Given the description of an element on the screen output the (x, y) to click on. 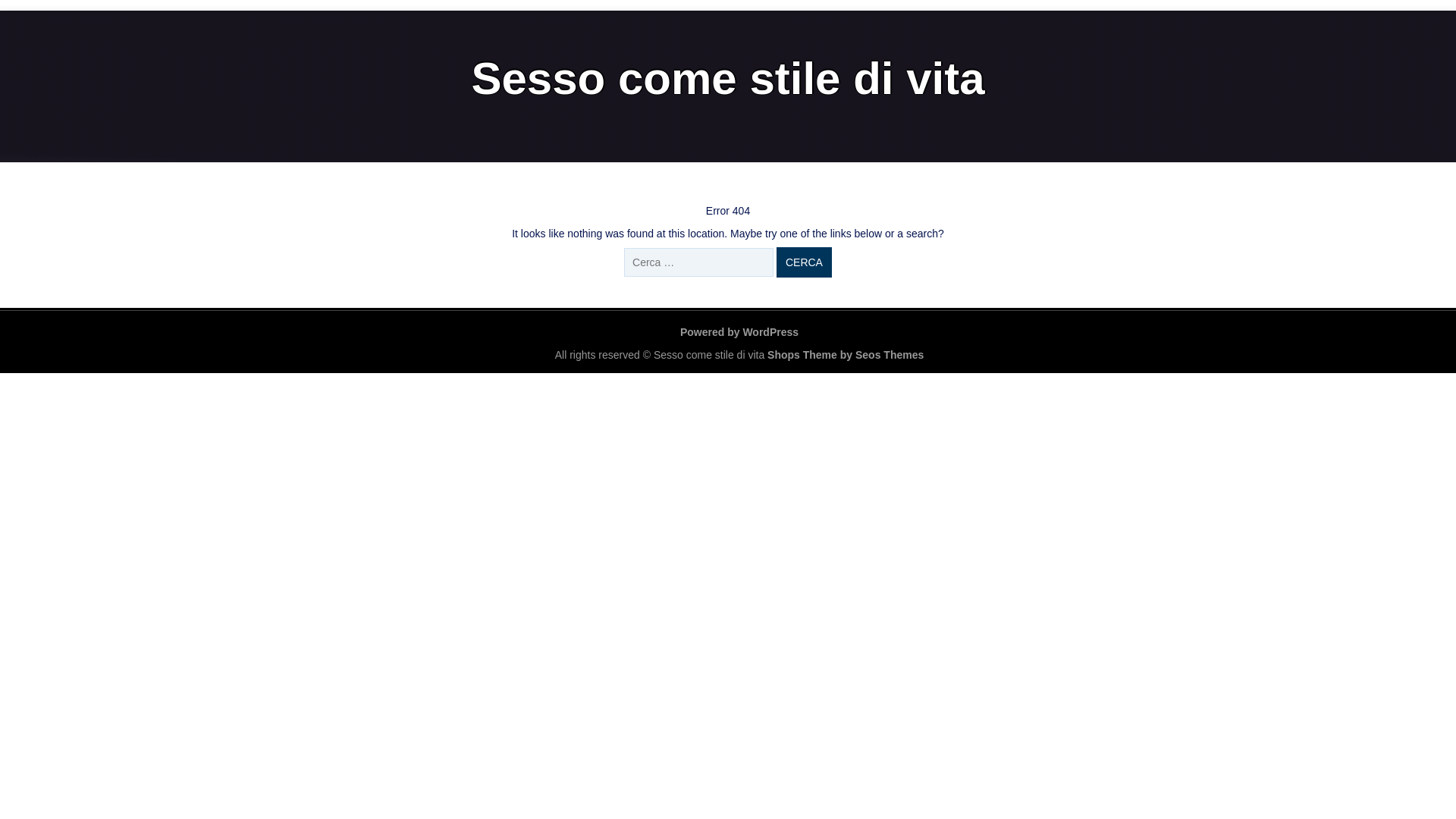
Sesso come stile di vita Element type: text (727, 78)
Cerca Element type: text (803, 262)
Shops Theme by Seos Themes Element type: text (845, 354)
Powered by WordPress Element type: text (739, 332)
